Given the description of an element on the screen output the (x, y) to click on. 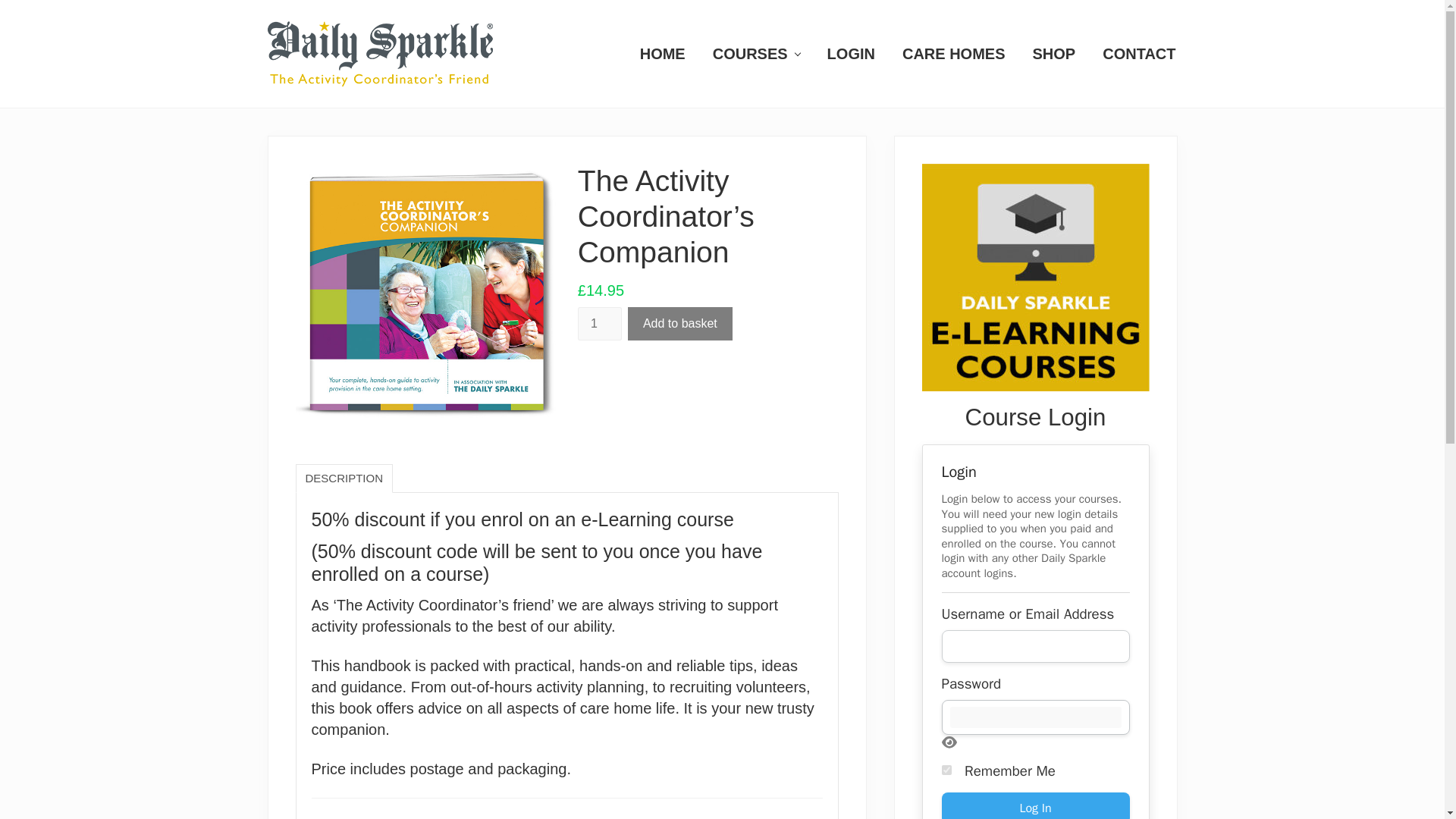
HOME (662, 53)
CONTACT (1139, 53)
1 (599, 323)
SHOP (1053, 53)
CARE HOMES (953, 53)
Add to basket (679, 323)
COURSES (756, 53)
forever (947, 769)
Log In (1035, 805)
LOGIN (850, 53)
